Given the description of an element on the screen output the (x, y) to click on. 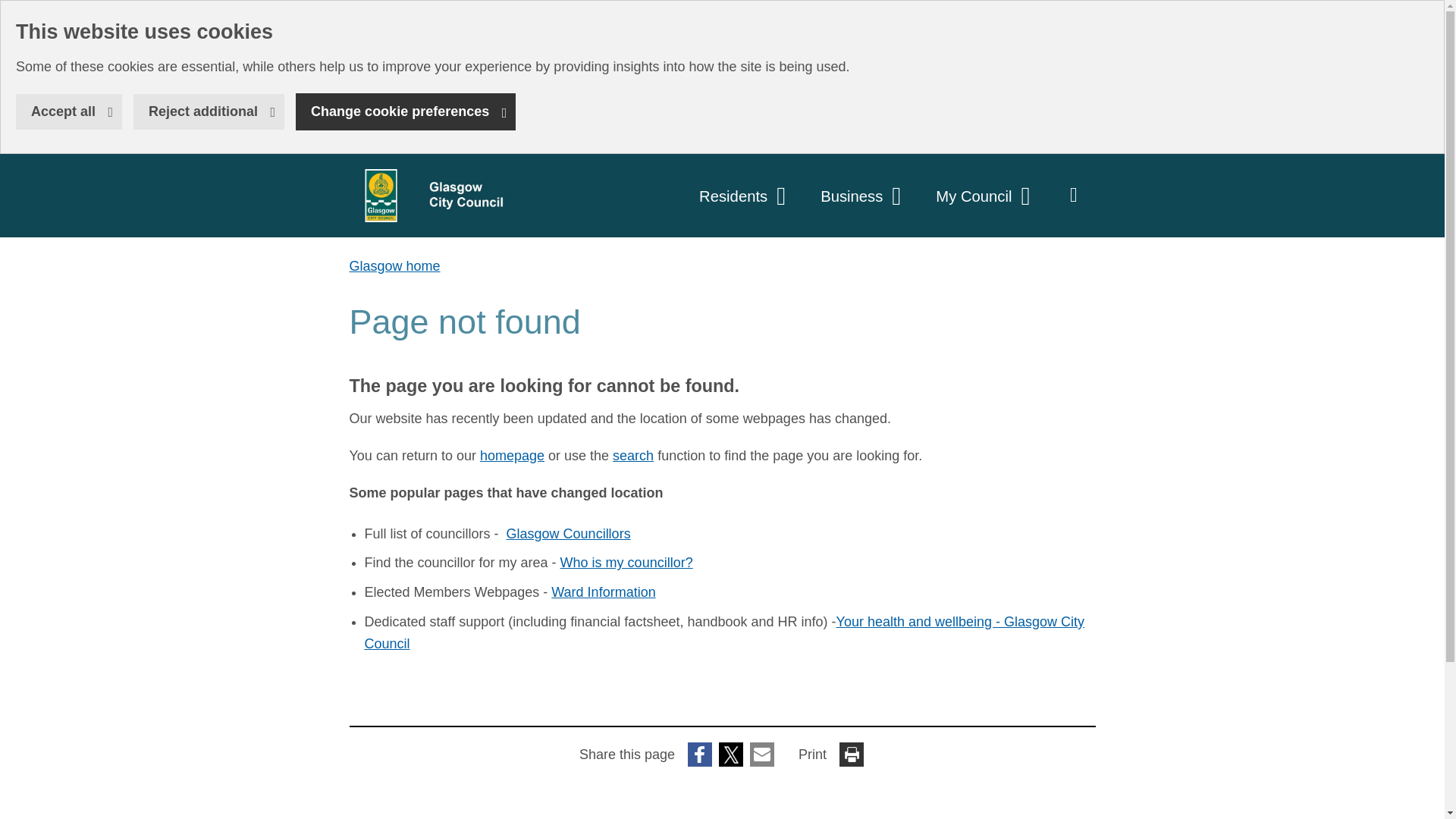
Accept all (69, 111)
Change cookie preferences (405, 111)
Residents (744, 195)
opens in a new browser window (568, 533)
Reject additional (208, 111)
Skip to main content (428, 195)
opens in a new browser window (11, 11)
